Given the description of an element on the screen output the (x, y) to click on. 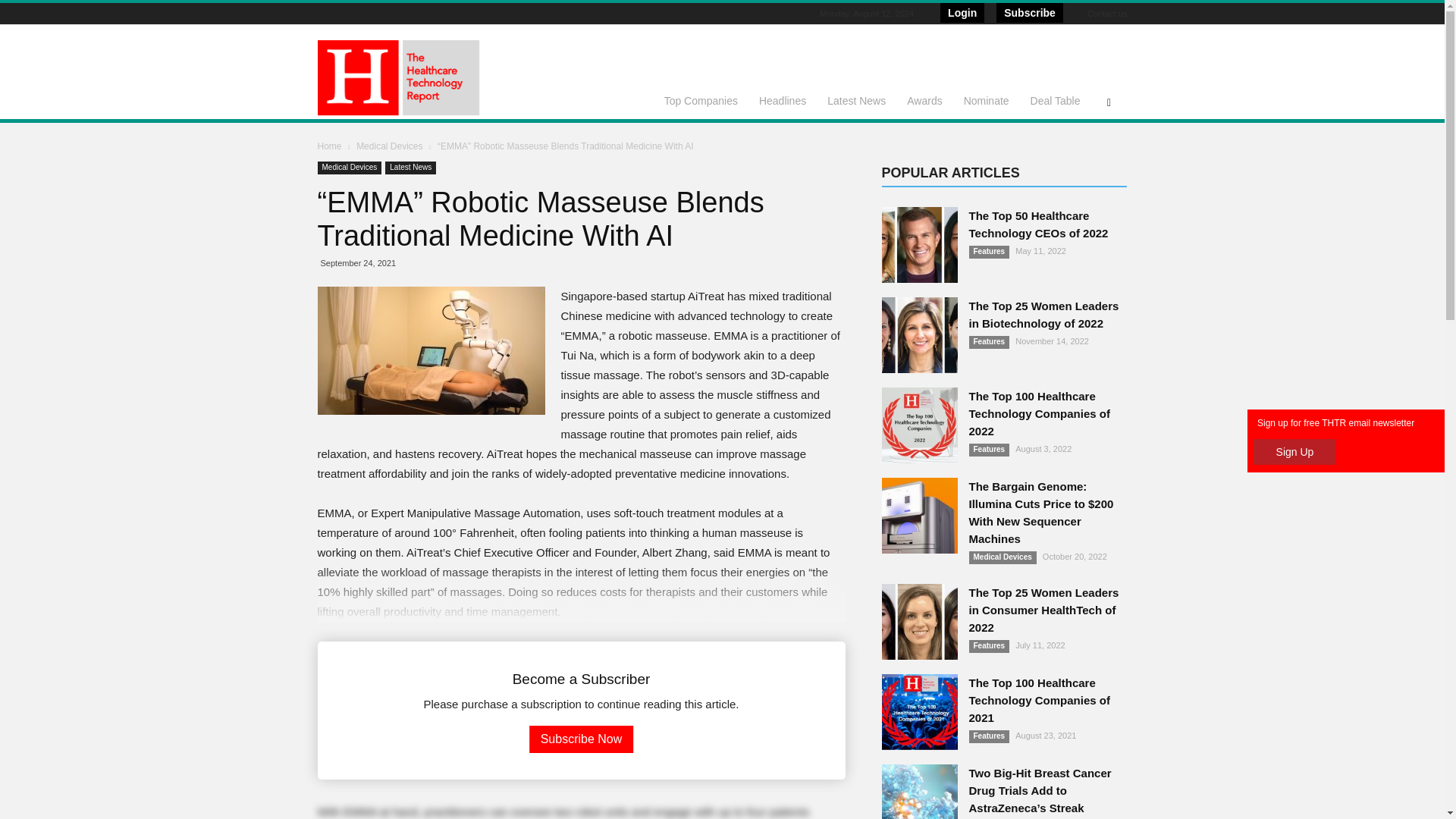
View all posts in Medical Devices (390, 145)
Deal Table (1055, 100)
Home (328, 145)
Headlines (782, 100)
Sign Up (1294, 451)
Latest News (856, 100)
Top Companies (700, 100)
Latest News (410, 167)
Medical Devices (390, 145)
Awards (924, 100)
